Given the description of an element on the screen output the (x, y) to click on. 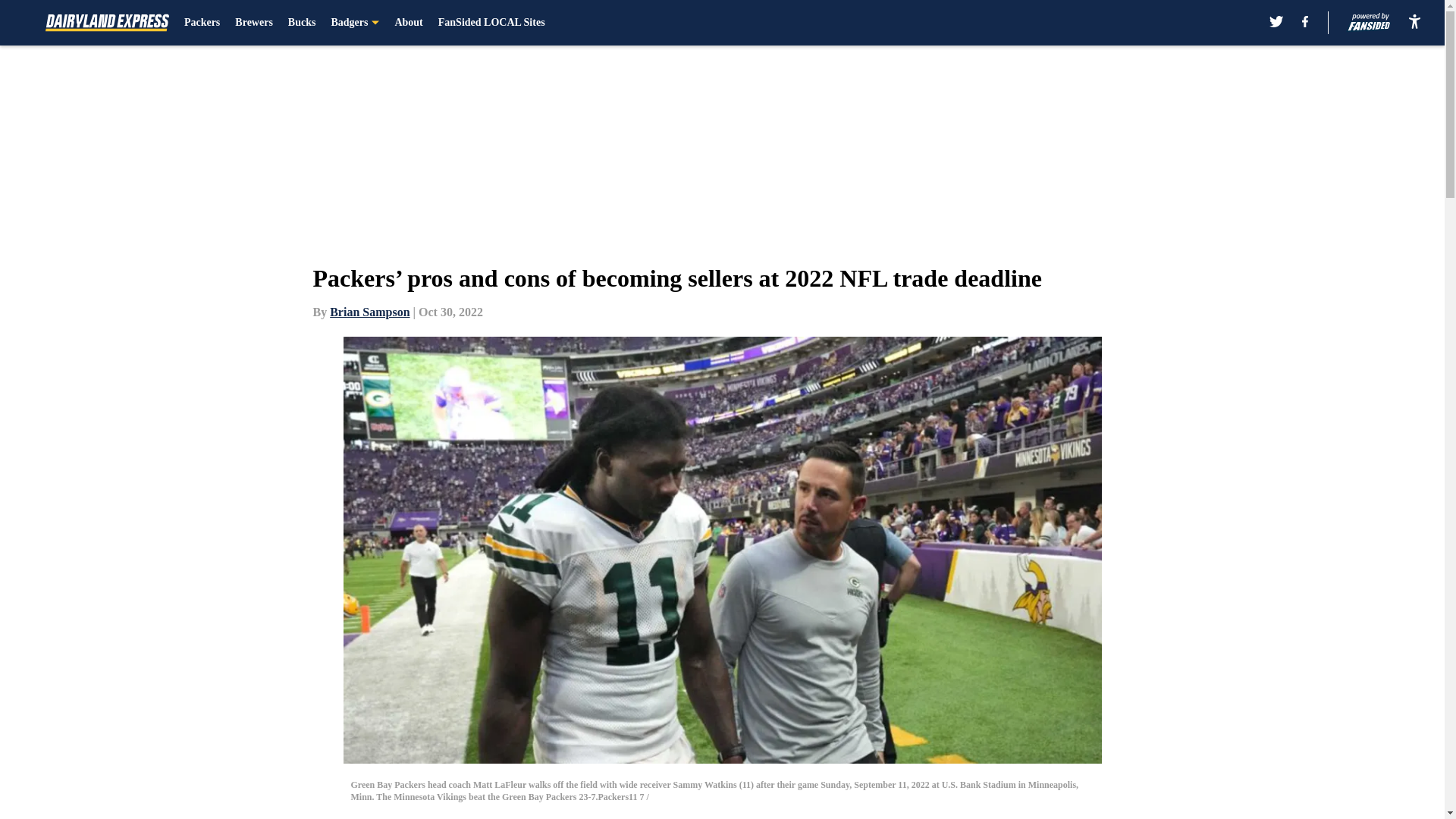
Brian Sampson (369, 311)
FanSided LOCAL Sites (491, 22)
Brewers (253, 22)
Bucks (301, 22)
Packers (201, 22)
About (408, 22)
